Given the description of an element on the screen output the (x, y) to click on. 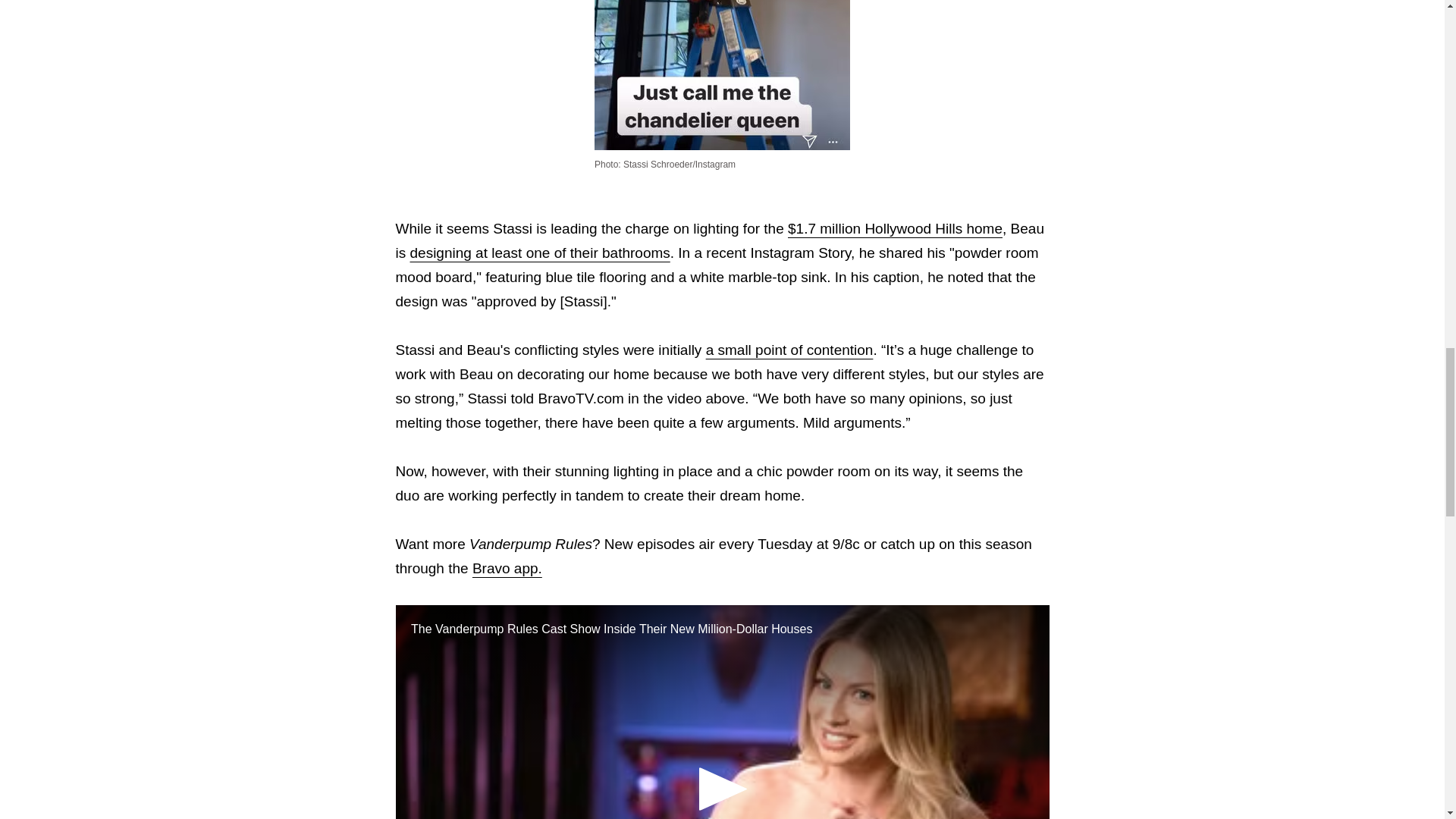
a small point of contention (789, 349)
designing at least one of their bathrooms (539, 252)
Bravo app. (506, 568)
